Given the description of an element on the screen output the (x, y) to click on. 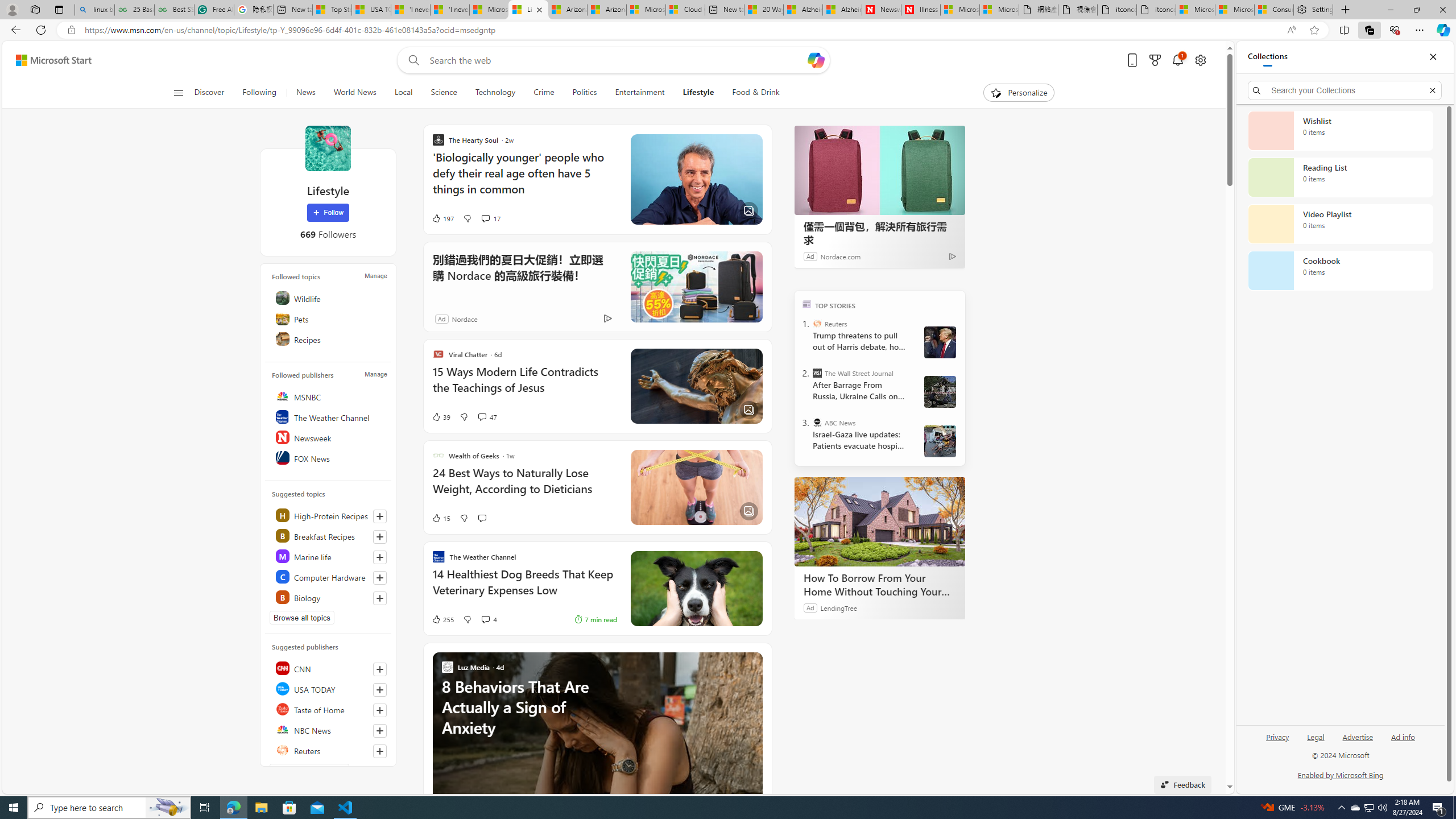
Microsoft Start (53, 60)
Copilot (Ctrl+Shift+.) (1442, 29)
How To Borrow From Your Home Without Touching Your Mortgage (879, 584)
Discover (213, 92)
Following (258, 92)
Nordace.com (839, 256)
Add this page to favorites (Ctrl+D) (1314, 29)
Close tab (539, 9)
Reading List collection, 0 items (1339, 177)
ABC News (816, 422)
View comments 4 Comment (485, 619)
